Given the description of an element on the screen output the (x, y) to click on. 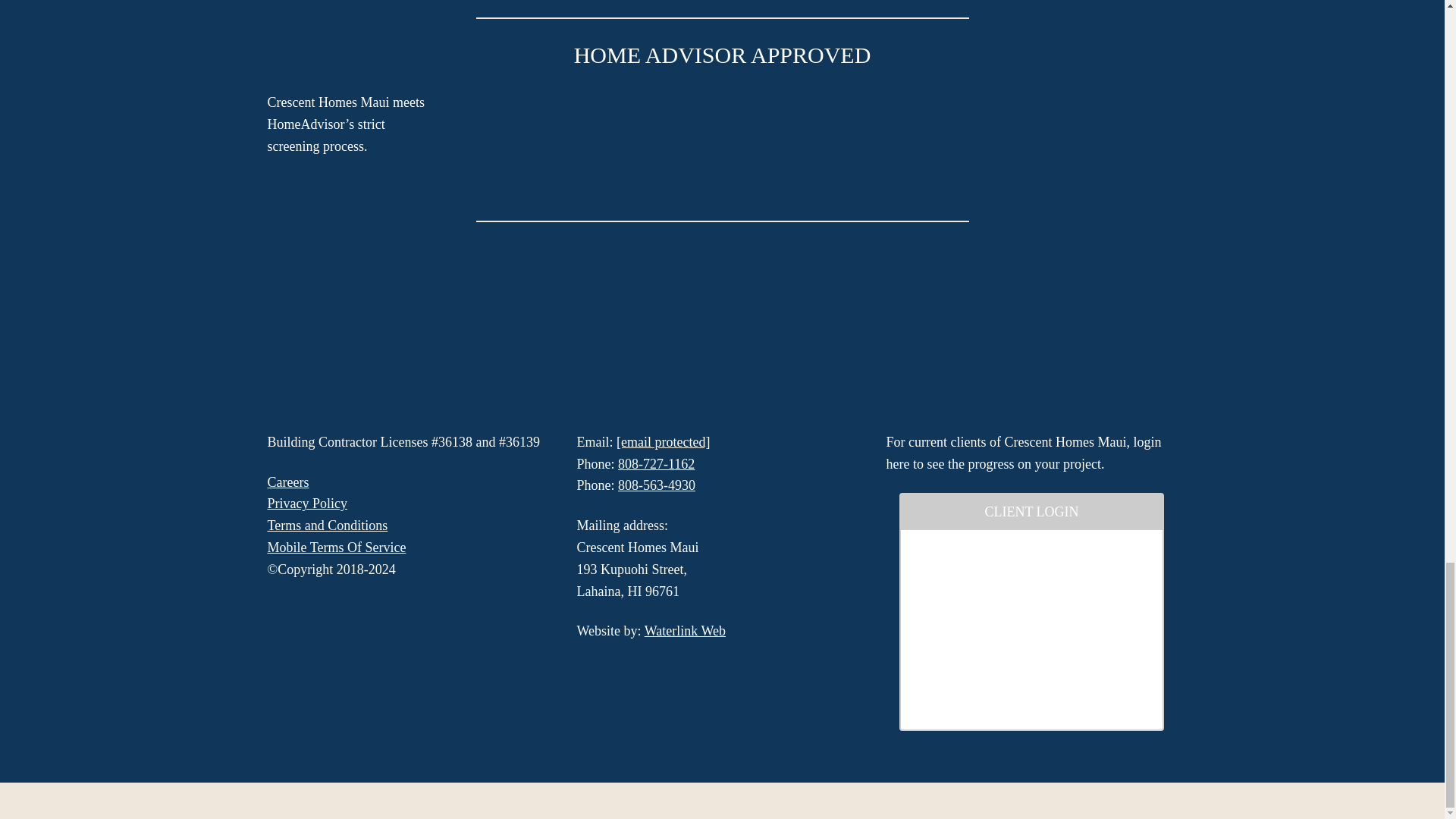
Terms and Conditions (326, 525)
Privacy Policy (306, 503)
Careers (287, 482)
